Given the description of an element on the screen output the (x, y) to click on. 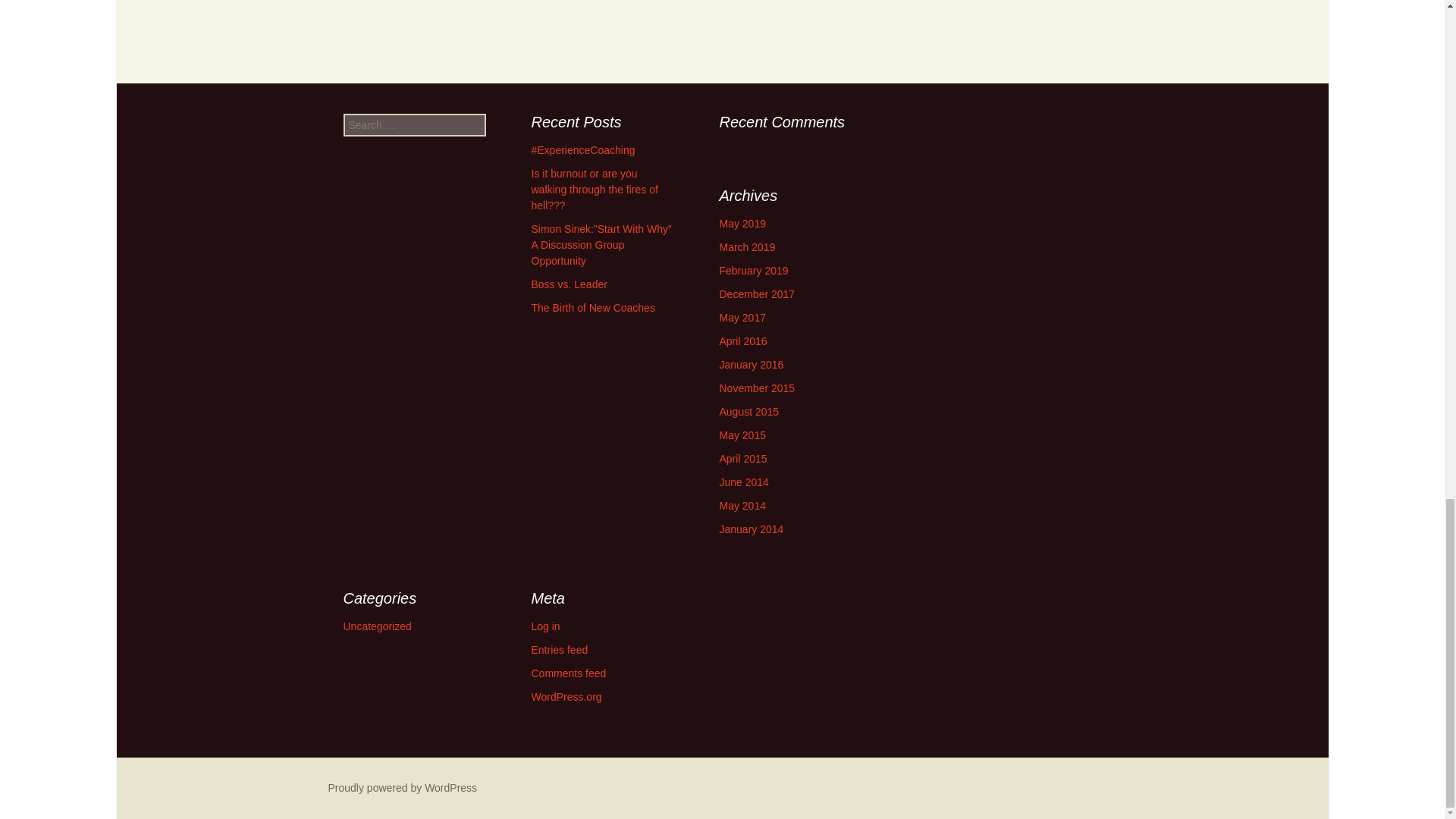
May 2019 (742, 223)
January 2016 (751, 364)
The Birth of New Coaches (592, 307)
April 2016 (743, 340)
February 2019 (753, 270)
Boss vs. Leader (569, 284)
March 2019 (746, 246)
December 2017 (756, 294)
May 2017 (742, 317)
